Given the description of an element on the screen output the (x, y) to click on. 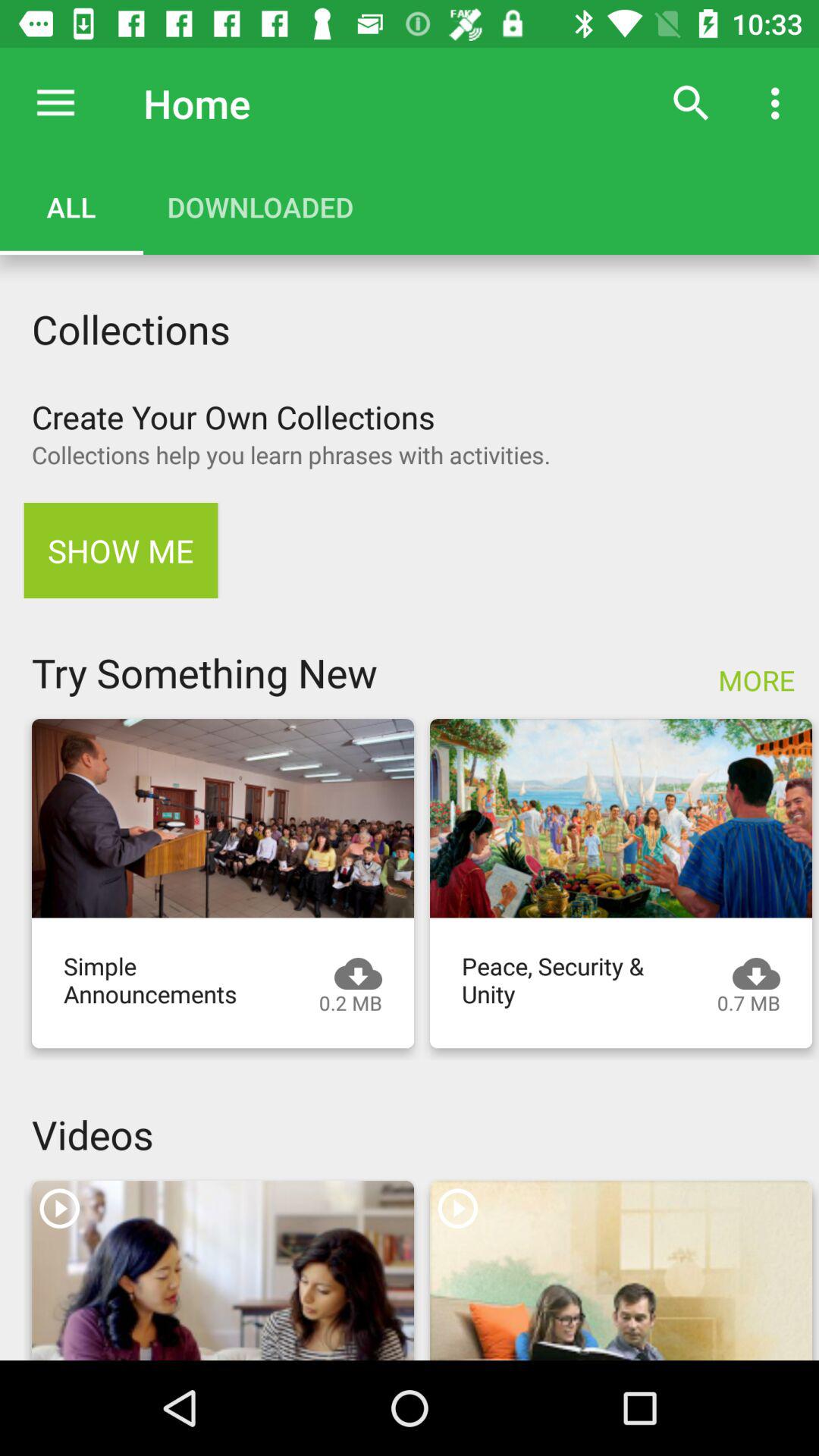
select video (620, 817)
